Given the description of an element on the screen output the (x, y) to click on. 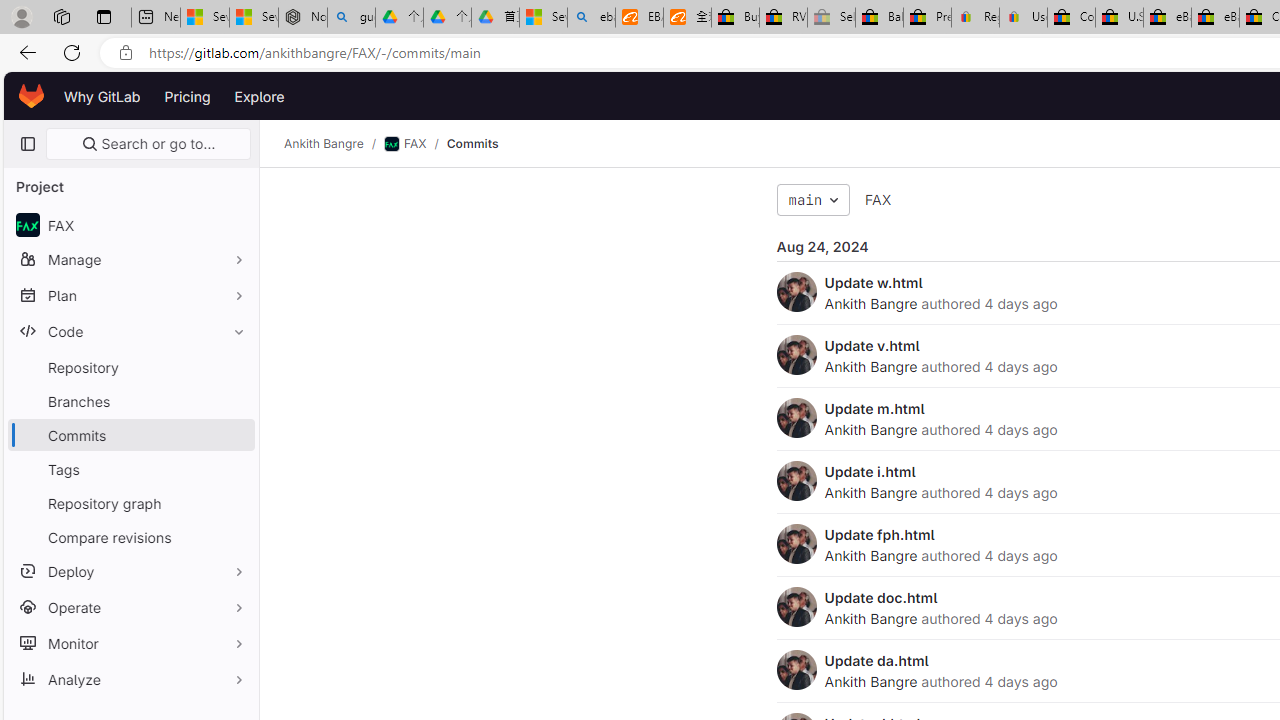
Manage (130, 259)
Baby Keepsakes & Announcements for sale | eBay (879, 17)
Ankith Bangre/ (334, 143)
avatar FAX (130, 224)
main (813, 200)
Ankith Bangre (870, 681)
Update fph.html (879, 534)
Buy Auto Parts & Accessories | eBay (735, 17)
Plan (130, 295)
Consumer Health Data Privacy Policy - eBay Inc. (1071, 17)
avatar (27, 224)
Code (130, 331)
Update m.html (874, 408)
